Given the description of an element on the screen output the (x, y) to click on. 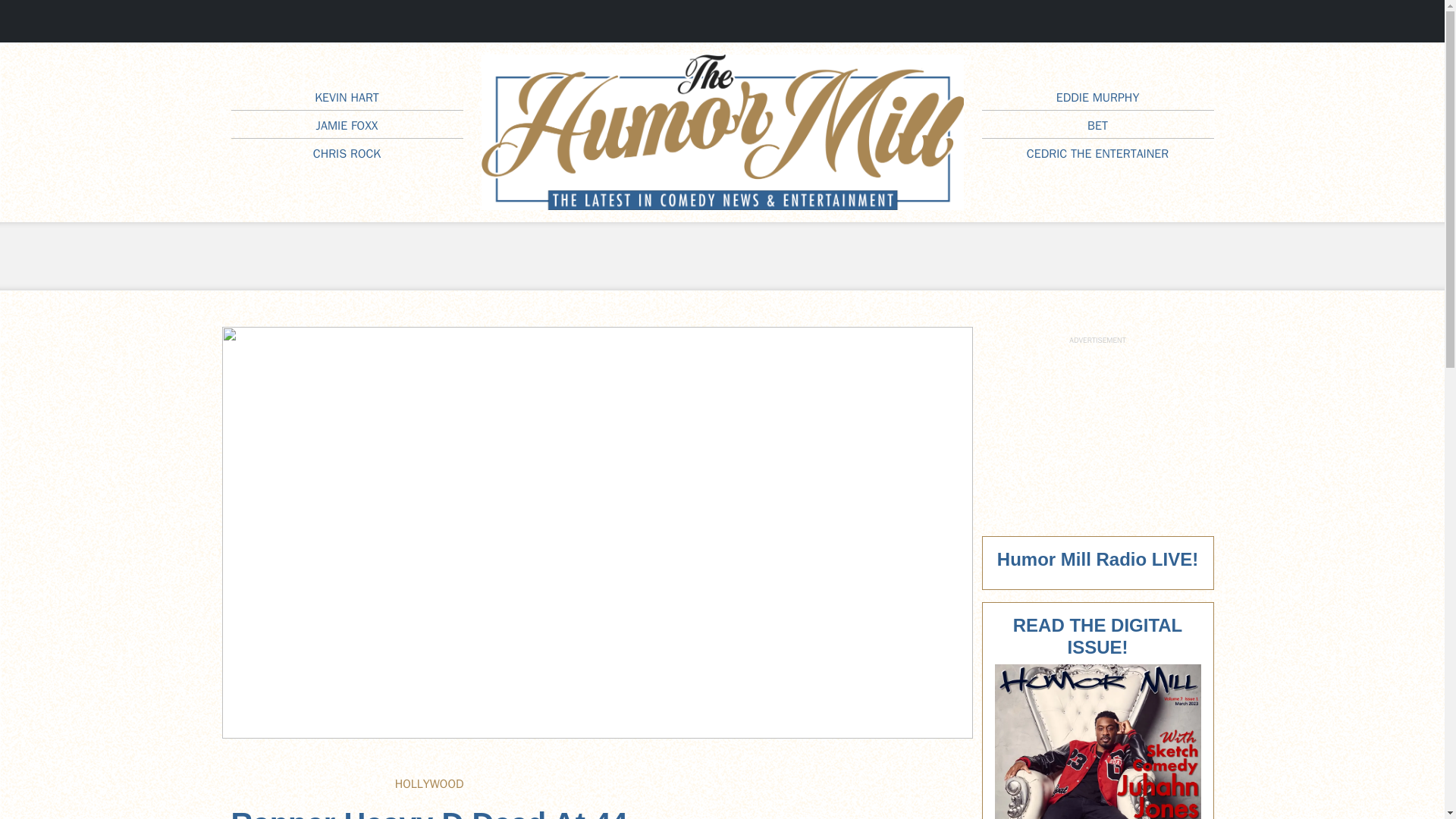
BET Tag (1097, 125)
The Humor Mill Volume 7 Issue 1 March 2023 (1097, 741)
KEVIN HART (346, 97)
Eddie Murphy Tag (1098, 97)
Jamie Foxx Tag (346, 125)
Cedric The Entertainer Tag (1097, 153)
Kevin Hart Tag (346, 97)
BET (1097, 125)
Chris Rock Tag (346, 153)
JAMIE FOXX (346, 125)
CEDRIC THE ENTERTAINER (1097, 153)
CHRIS ROCK (346, 153)
EDDIE MURPHY (1098, 97)
HOLLYWOOD (429, 783)
